Given the description of an element on the screen output the (x, y) to click on. 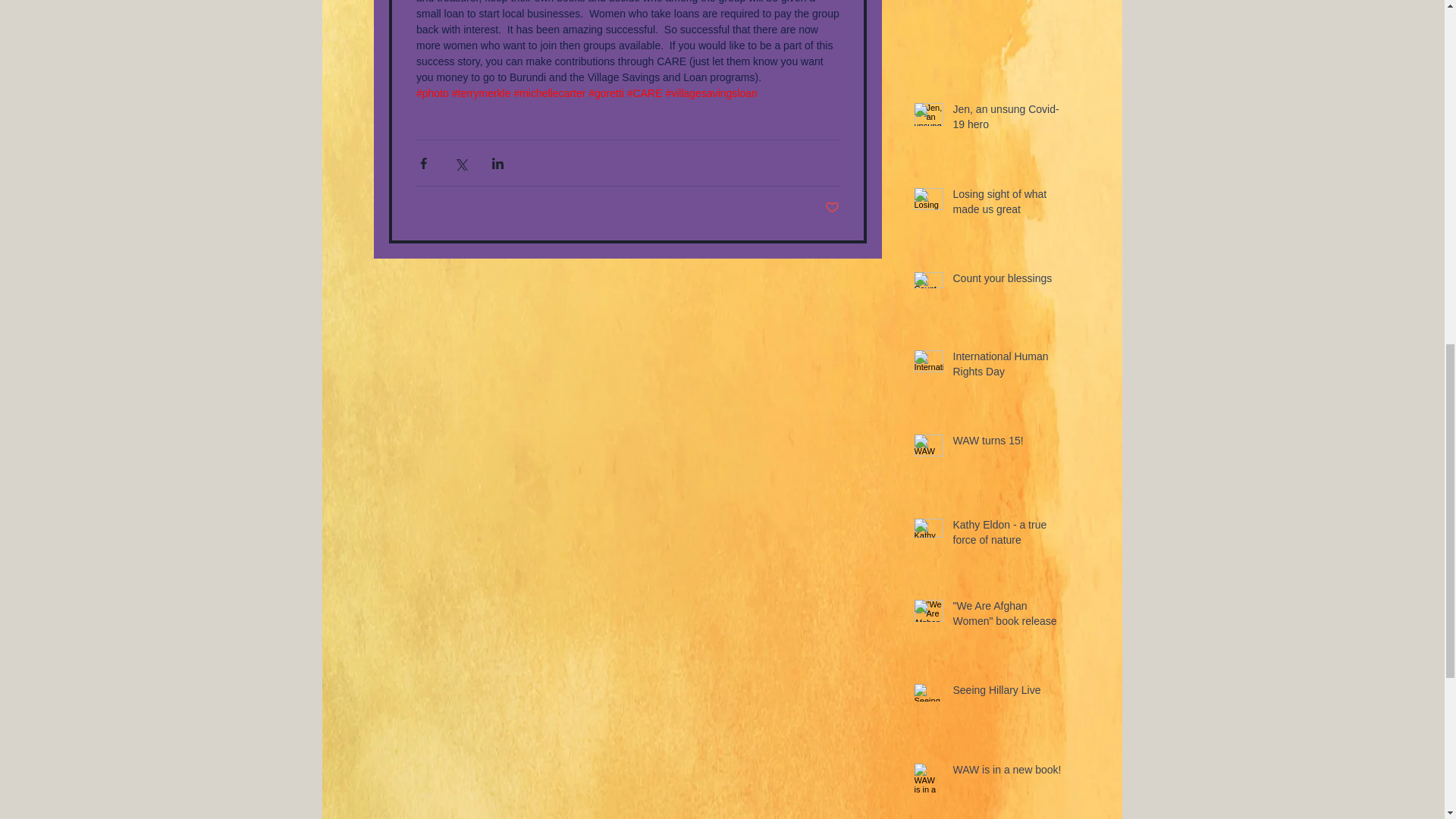
"We Are Afghan Women" book release (1006, 616)
Kathy Eldon - a true force of nature (1006, 535)
WAW turns 15! (1006, 444)
WAW is in a new book! (1006, 772)
Jen, an unsung Covid-19 hero (1006, 120)
Count your blessings (1006, 281)
Seeing Hillary Live (1006, 693)
International Human Rights Day (1006, 366)
Losing sight of what made us great (1006, 204)
Post not marked as liked (832, 207)
